Given the description of an element on the screen output the (x, y) to click on. 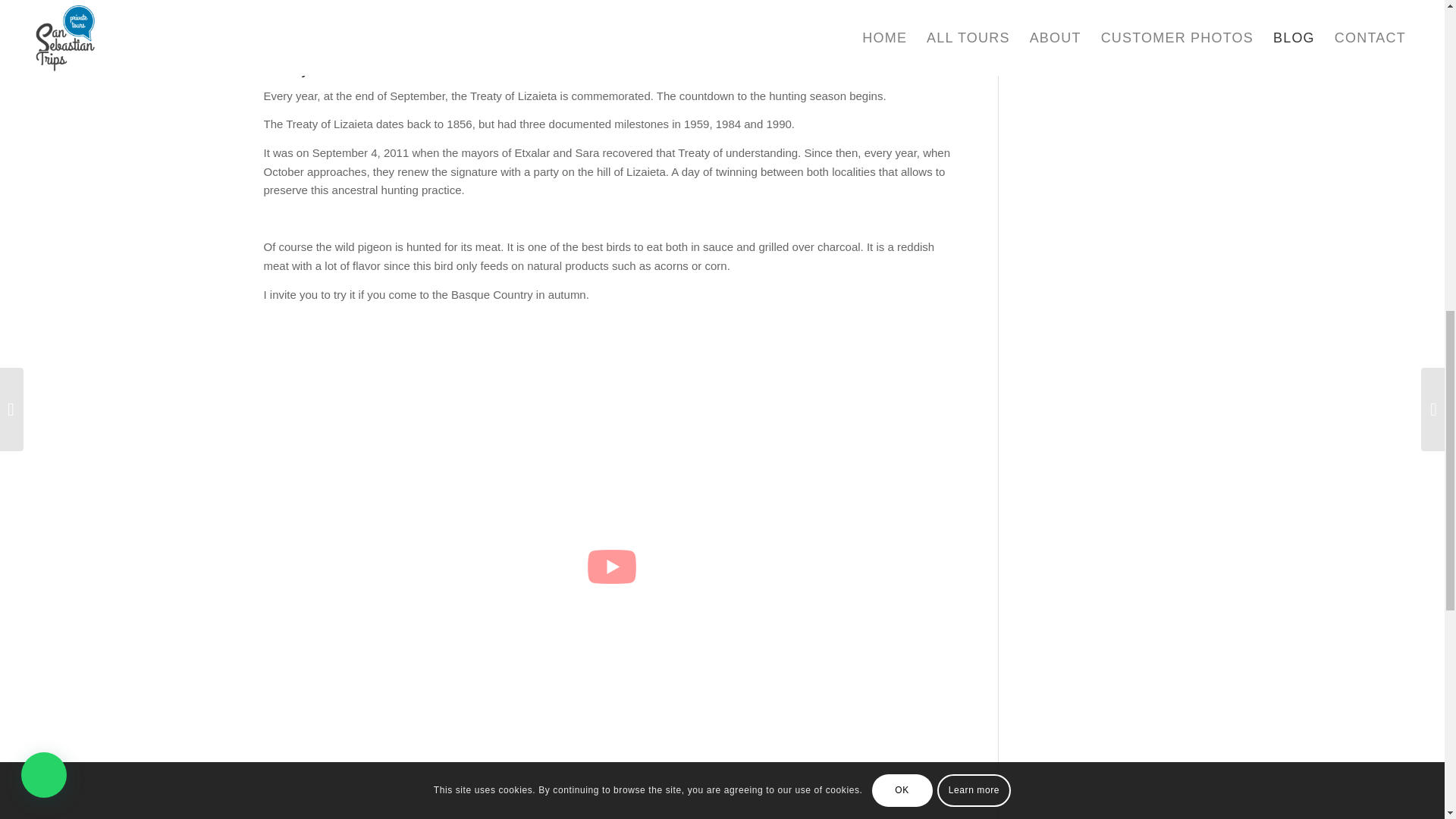
Etxalar (685, 27)
